Given the description of an element on the screen output the (x, y) to click on. 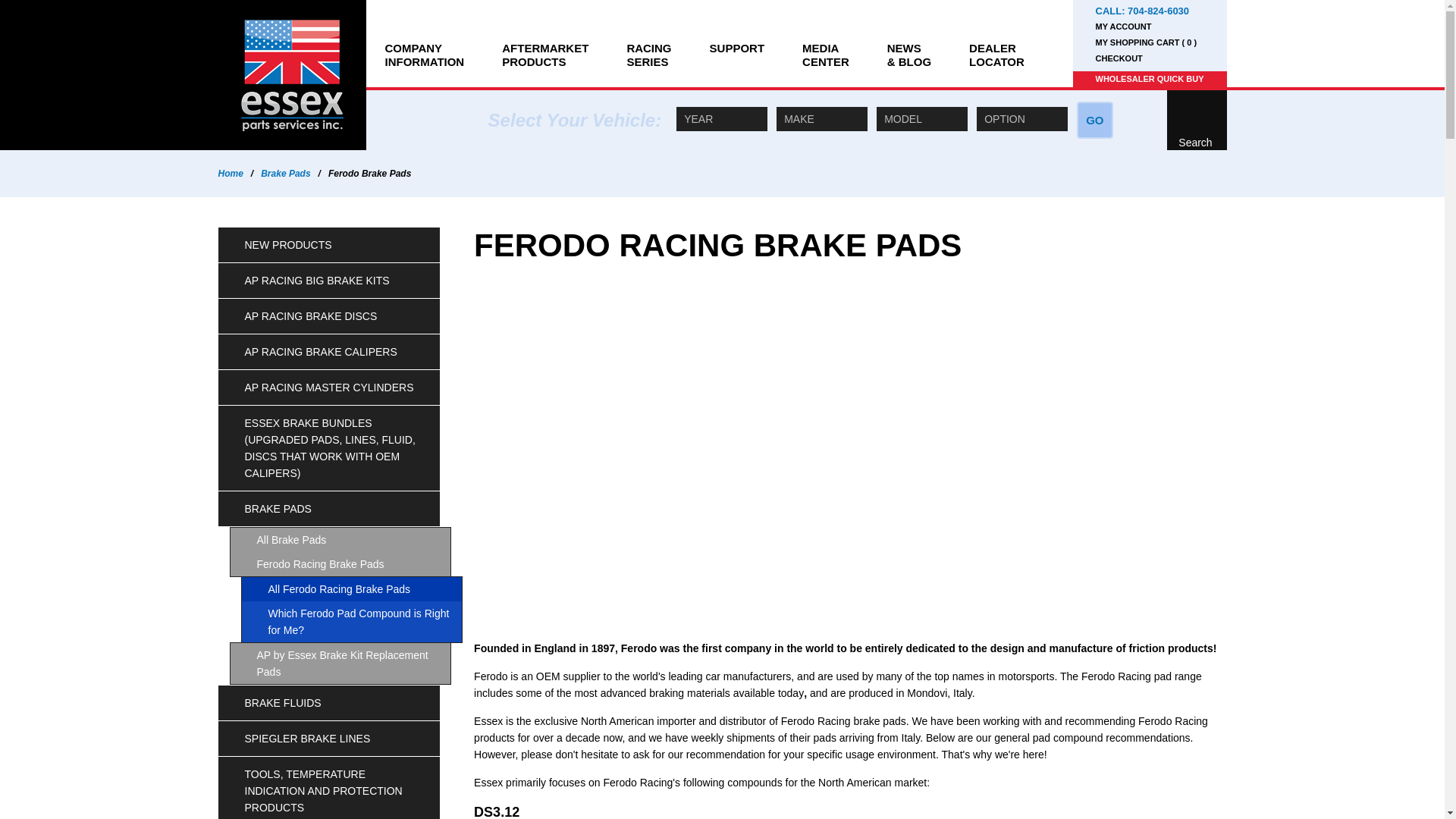
SUPPORT (737, 43)
WHOLESALER QUICK BUY (996, 43)
MY ACCOUNT (1148, 78)
CHECKOUT (1148, 26)
704-824-6030 (424, 43)
